Given the description of an element on the screen output the (x, y) to click on. 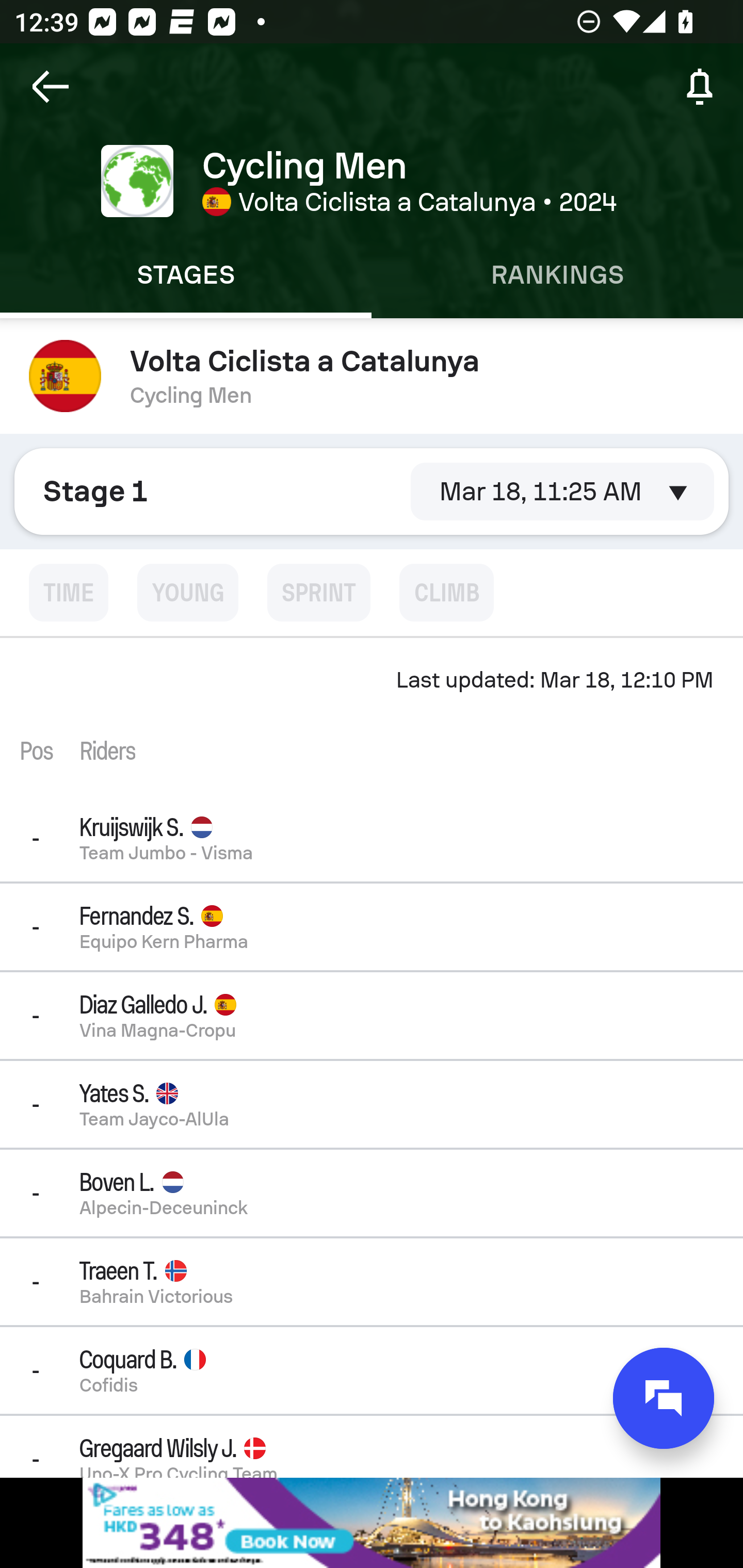
Navigate up (50, 86)
Rankings RANKINGS (557, 275)
Stage 1 Mar 18, 11:25 AM (371, 491)
Mar 18, 11:25 AM (562, 491)
Last updated: Mar 18, 12:10 PM Pos Riders (371, 716)
- Kruijswijk S. Team Jumbo - Visma (371, 837)
- Fernandez S. Equipo Kern Pharma (371, 926)
- Diaz Galledo J. Vina Magna-Cropu (371, 1015)
- Yates S. Team Jayco-AlUla (371, 1104)
- Boven L. Alpecin-Deceuninck (371, 1192)
- Traeen T. Bahrain Victorious (371, 1281)
- Coquard B. Cofidis (371, 1370)
CHAT (663, 1398)
- Gregaard Wilsly J. Uno-X Pro Cycling Team (371, 1446)
ijqm75ea_320x50 (371, 1522)
